Given the description of an element on the screen output the (x, y) to click on. 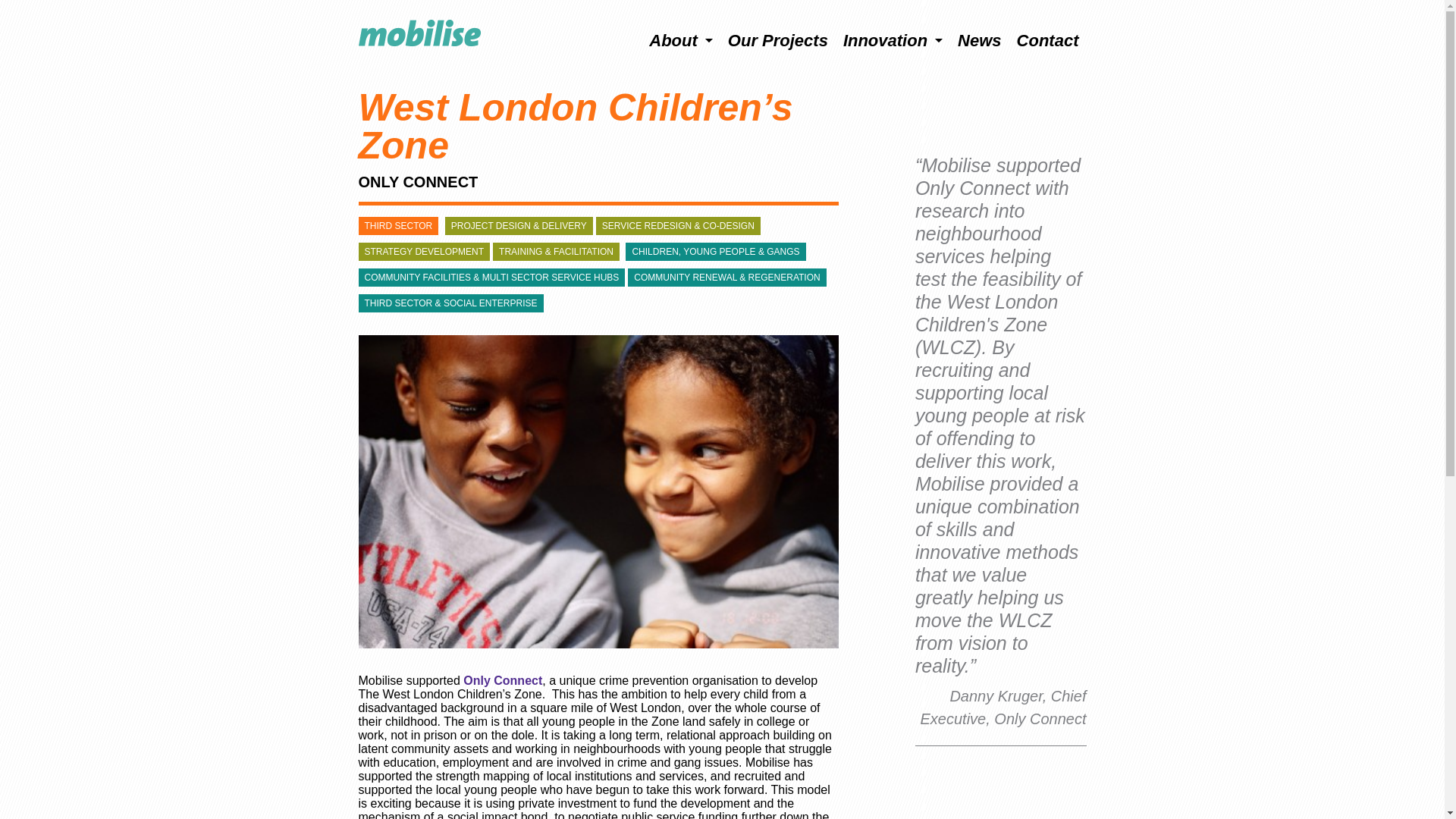
Only Connect (502, 680)
Innovation (892, 40)
Only Connect (502, 680)
About (681, 40)
News (979, 40)
Our Projects (778, 40)
Contact (1047, 40)
